Given the description of an element on the screen output the (x, y) to click on. 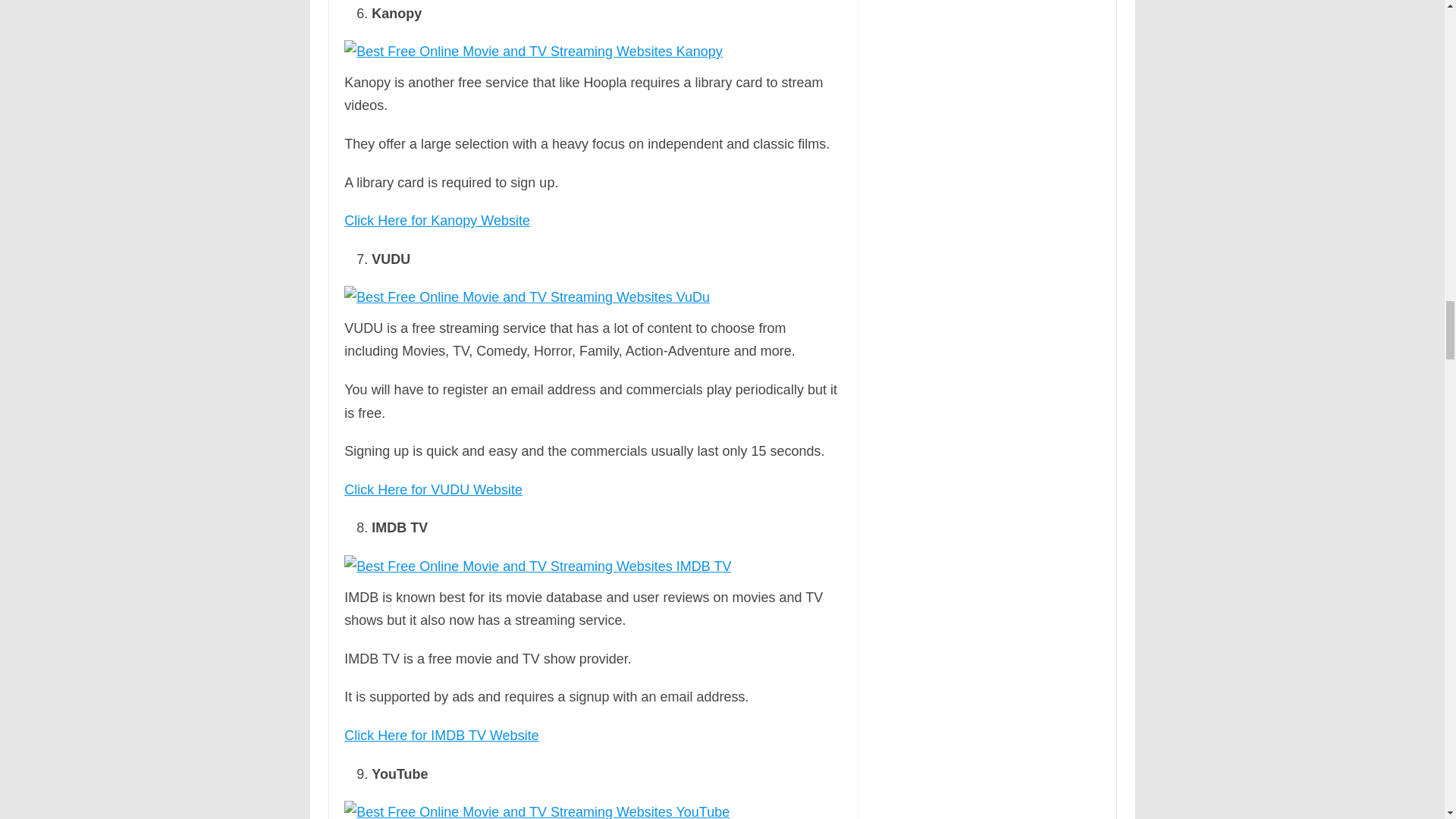
Click Here for Kanopy Website (436, 220)
Click Here for IMDB TV Website (440, 735)
Click Here for VUDU Website (432, 489)
